Given the description of an element on the screen output the (x, y) to click on. 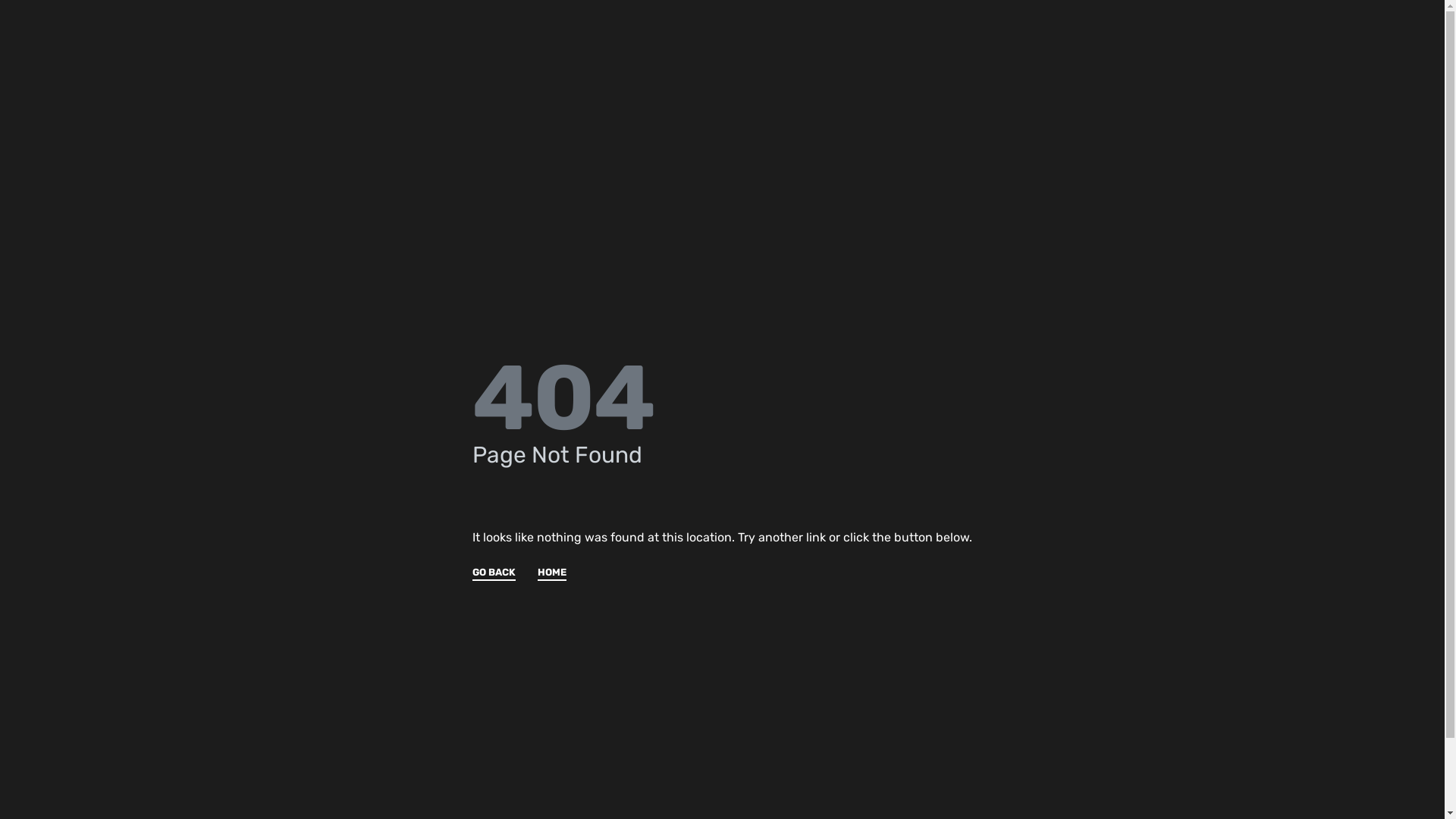
HOME Element type: text (551, 573)
GO BACK Element type: text (493, 573)
